Given the description of an element on the screen output the (x, y) to click on. 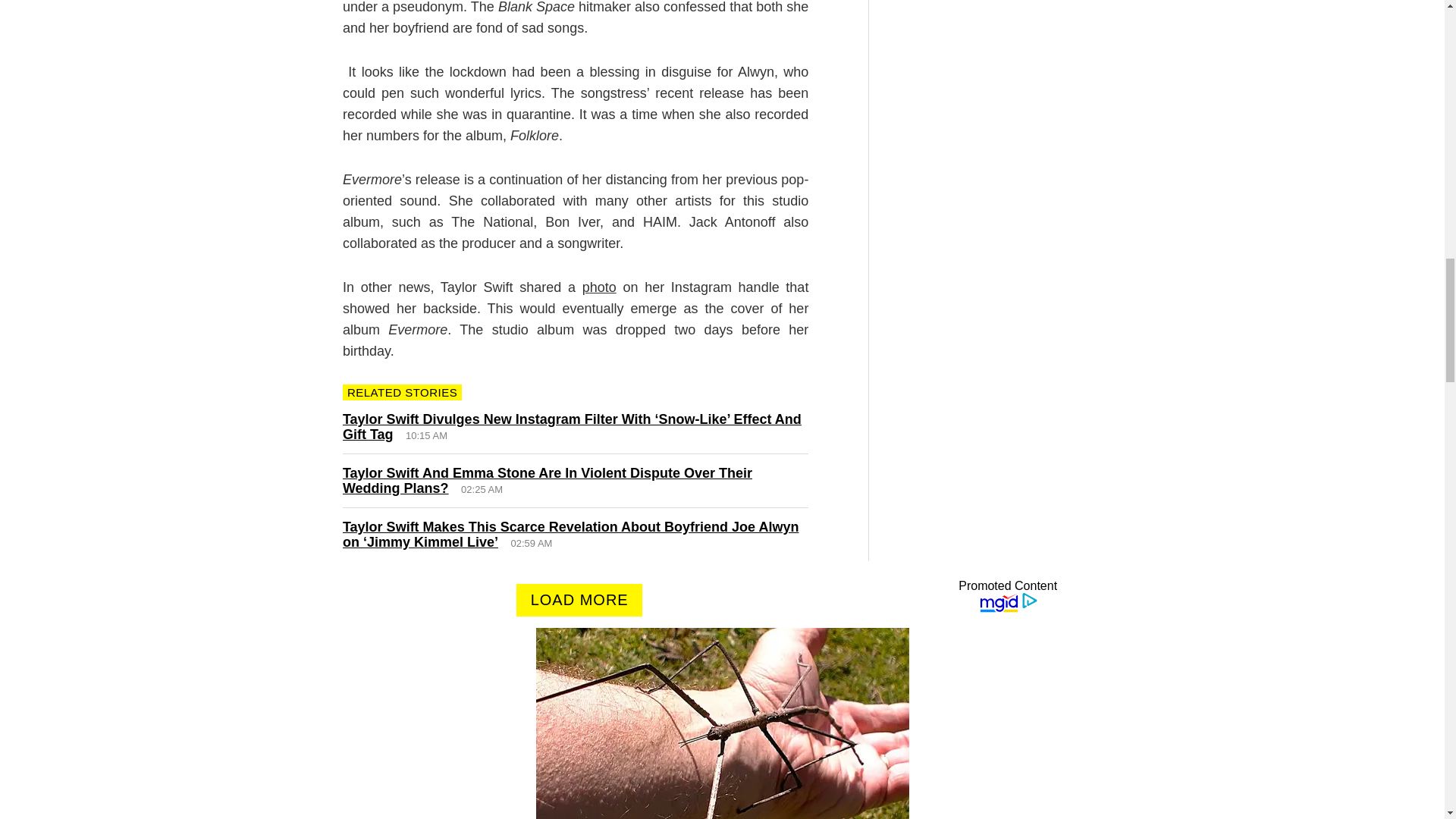
LOAD MORE (579, 599)
photo (598, 287)
